Given the description of an element on the screen output the (x, y) to click on. 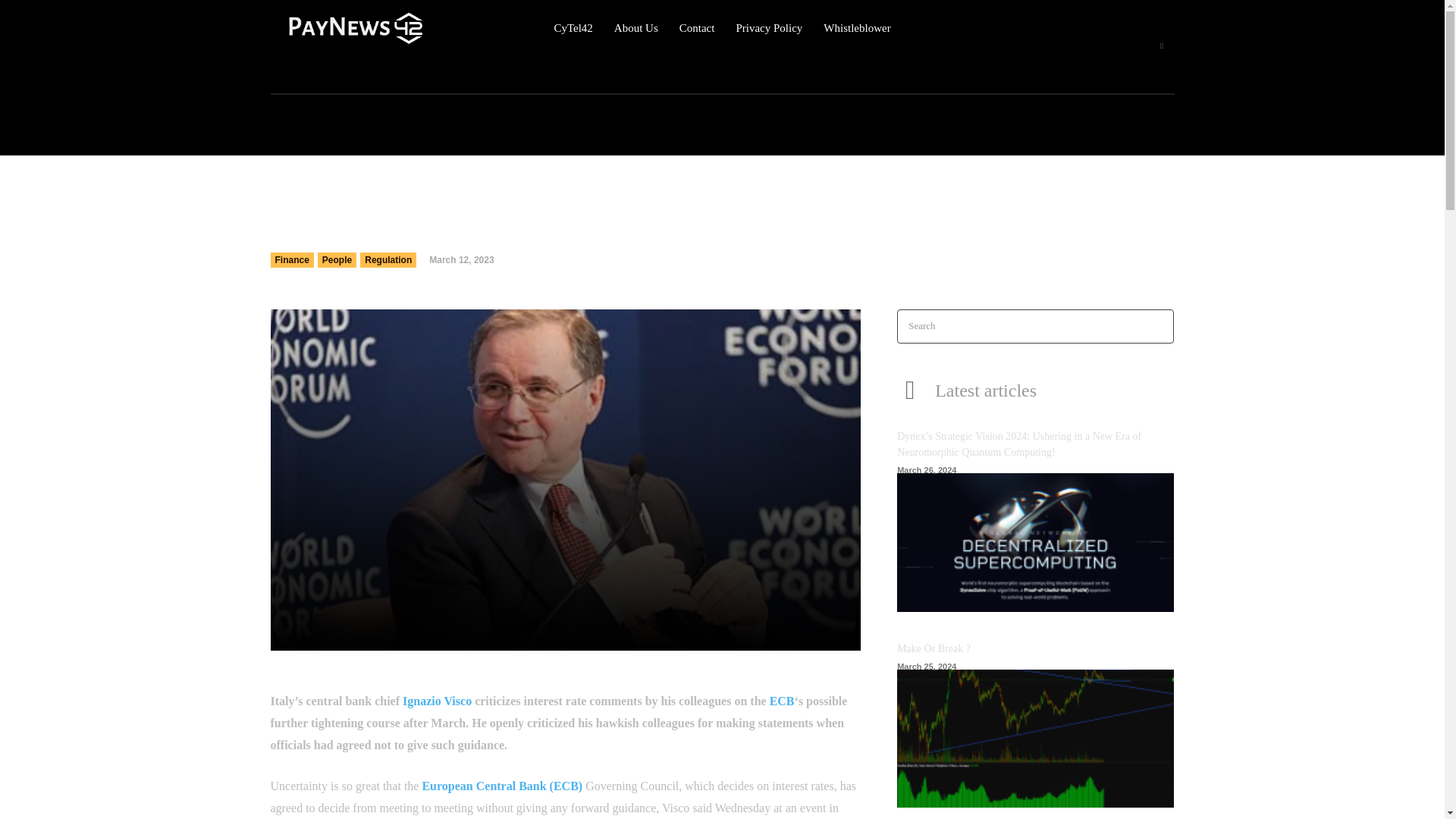
Privacy Policy (768, 28)
Regulation (387, 259)
Twitter (1162, 46)
ECB (782, 700)
Make Or Break ? (933, 648)
People (336, 259)
Make Or Break ? (933, 648)
Finance (291, 259)
Ignazio Visco (437, 700)
Whistleblower (856, 28)
